Given the description of an element on the screen output the (x, y) to click on. 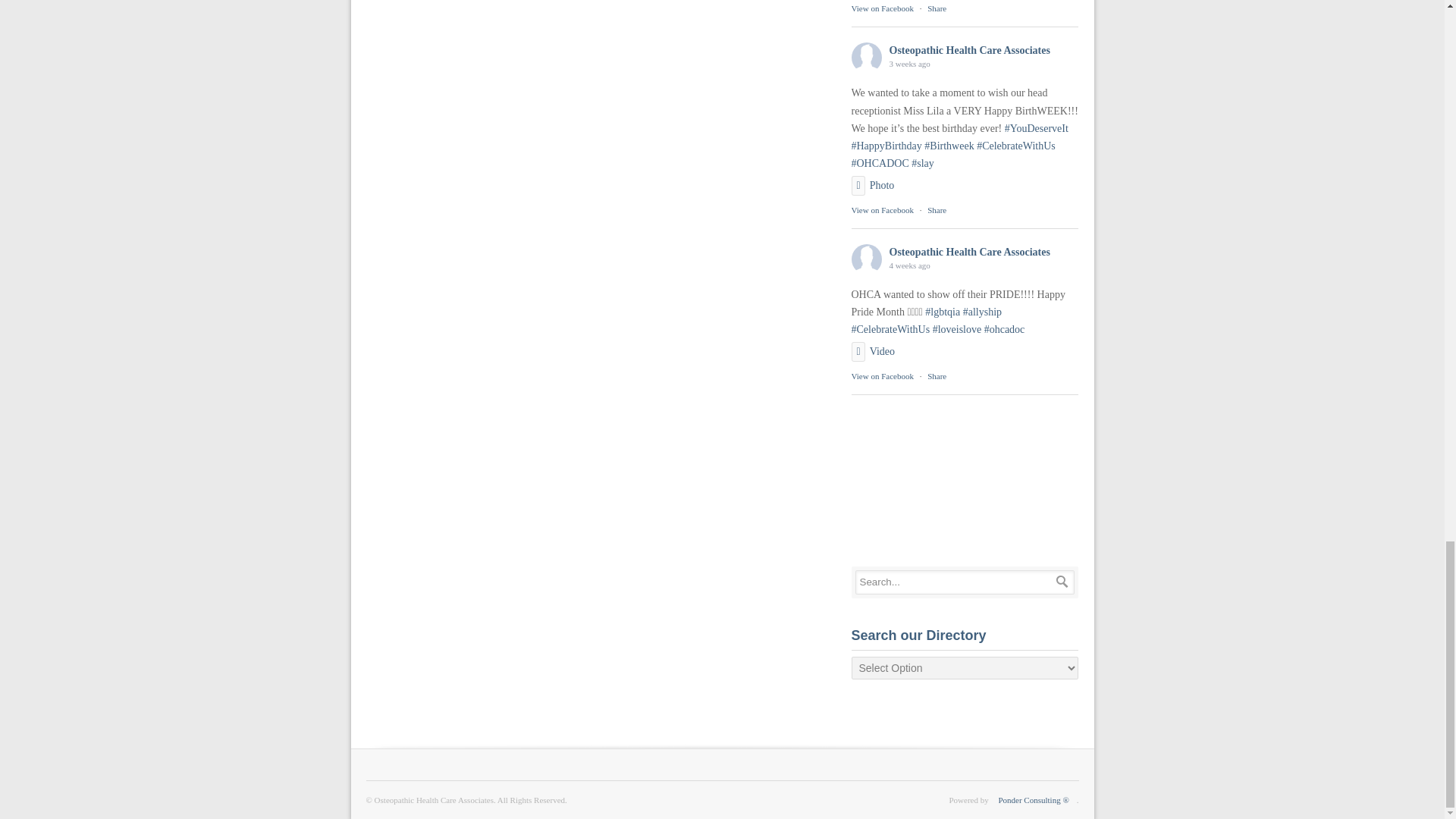
View on Facebook (881, 209)
View on Facebook (881, 8)
Share (936, 8)
Search... (965, 582)
